Given the description of an element on the screen output the (x, y) to click on. 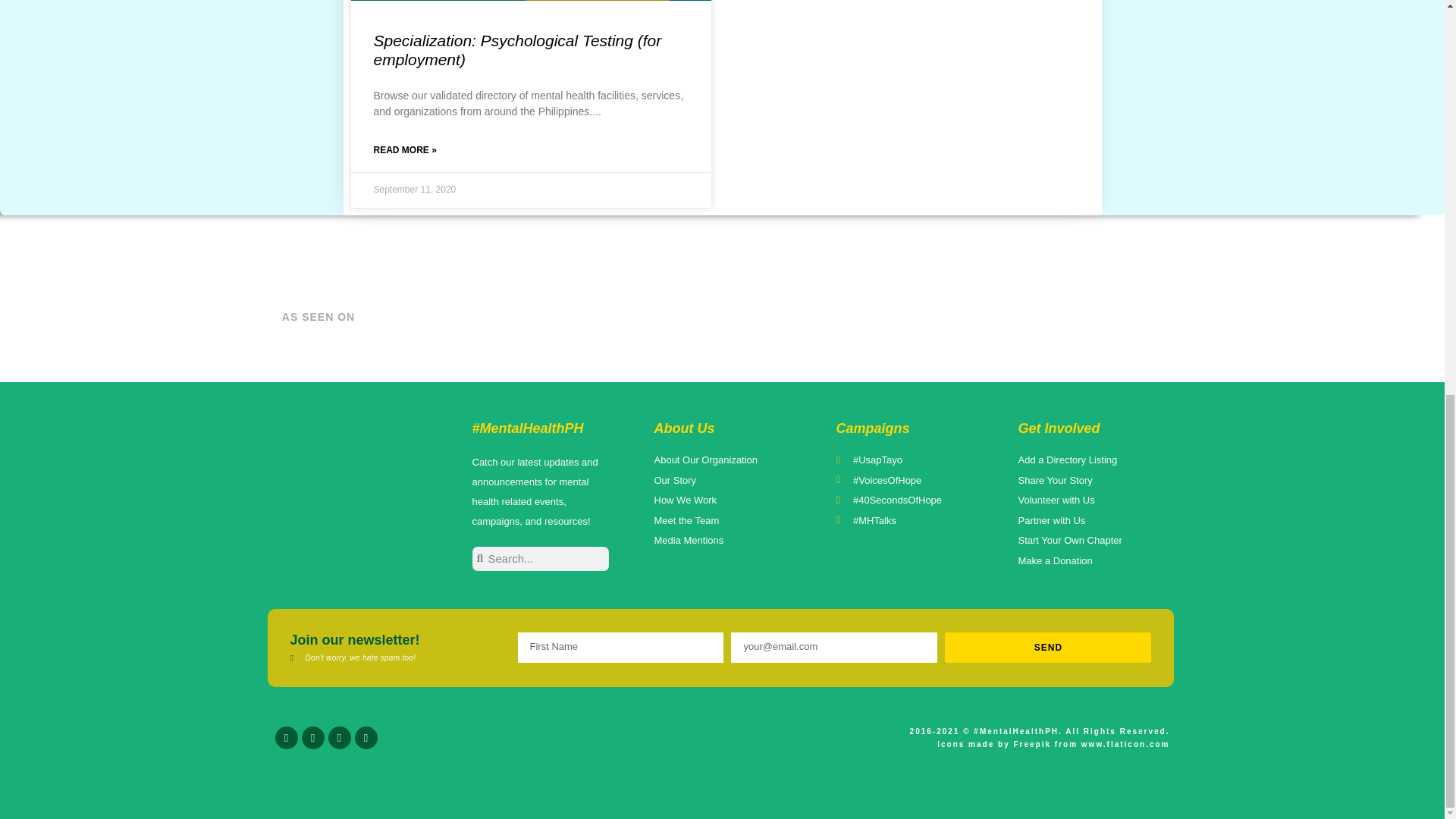
GMA-News-Online-logo (980, 317)
Freepik (1032, 744)
cnn-logo-red-white (580, 317)
Flaticon (1125, 744)
BusinessMirror-logo (644, 317)
Manila-Bulletin-logo (737, 317)
abscbn-logo-black (1101, 317)
Inquirer-net-logo (859, 317)
